Given the description of an element on the screen output the (x, y) to click on. 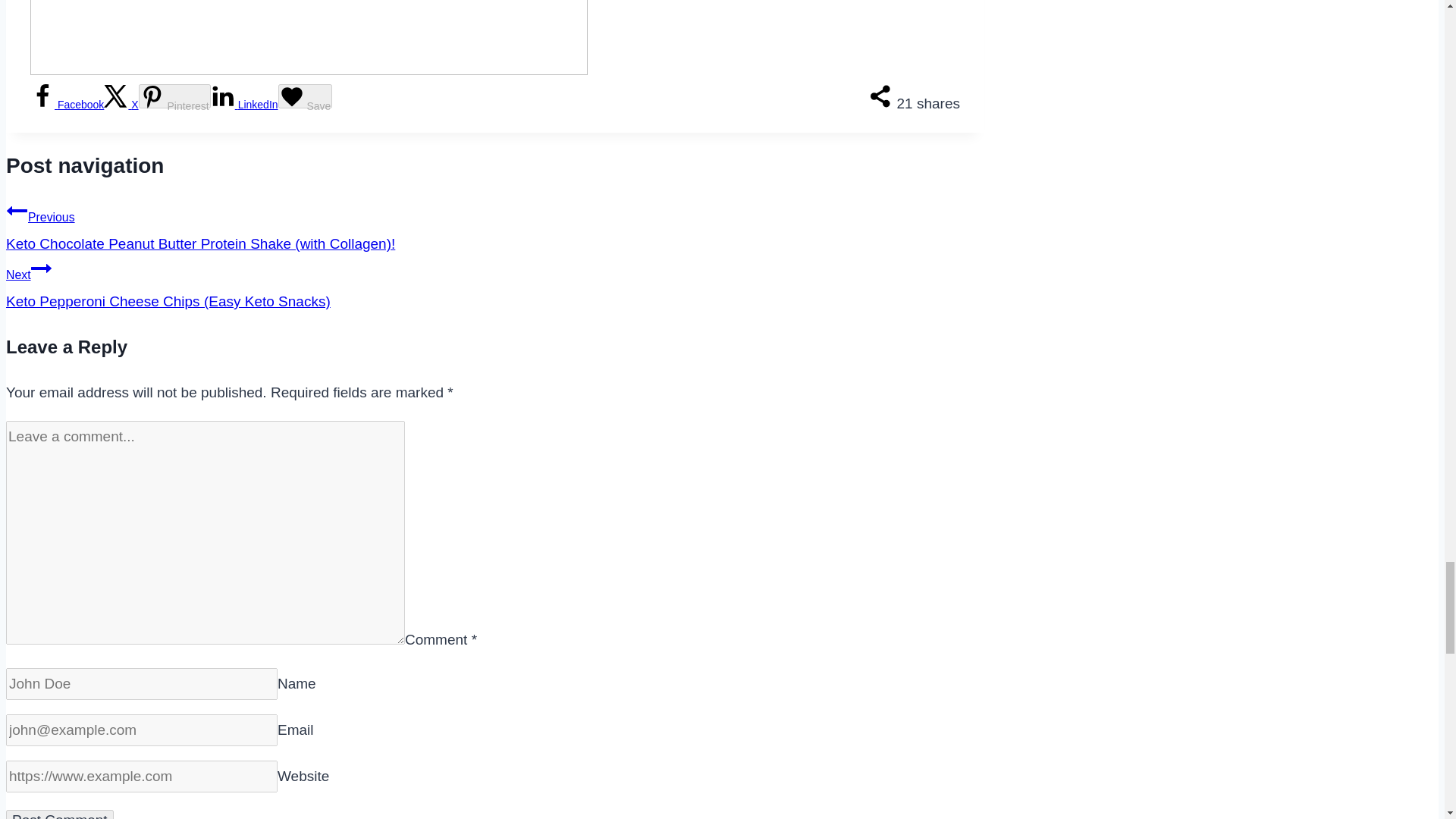
Previous (16, 210)
Pinterest (174, 96)
Continue (40, 268)
Facebook (66, 104)
Share on X (120, 104)
Save (305, 96)
Post Comment (59, 814)
LinkedIn (244, 104)
Share on LinkedIn (244, 104)
Share on Facebook (66, 104)
X (120, 104)
Save to Pinterest (174, 96)
Save on Grow.me (305, 96)
